Given the description of an element on the screen output the (x, y) to click on. 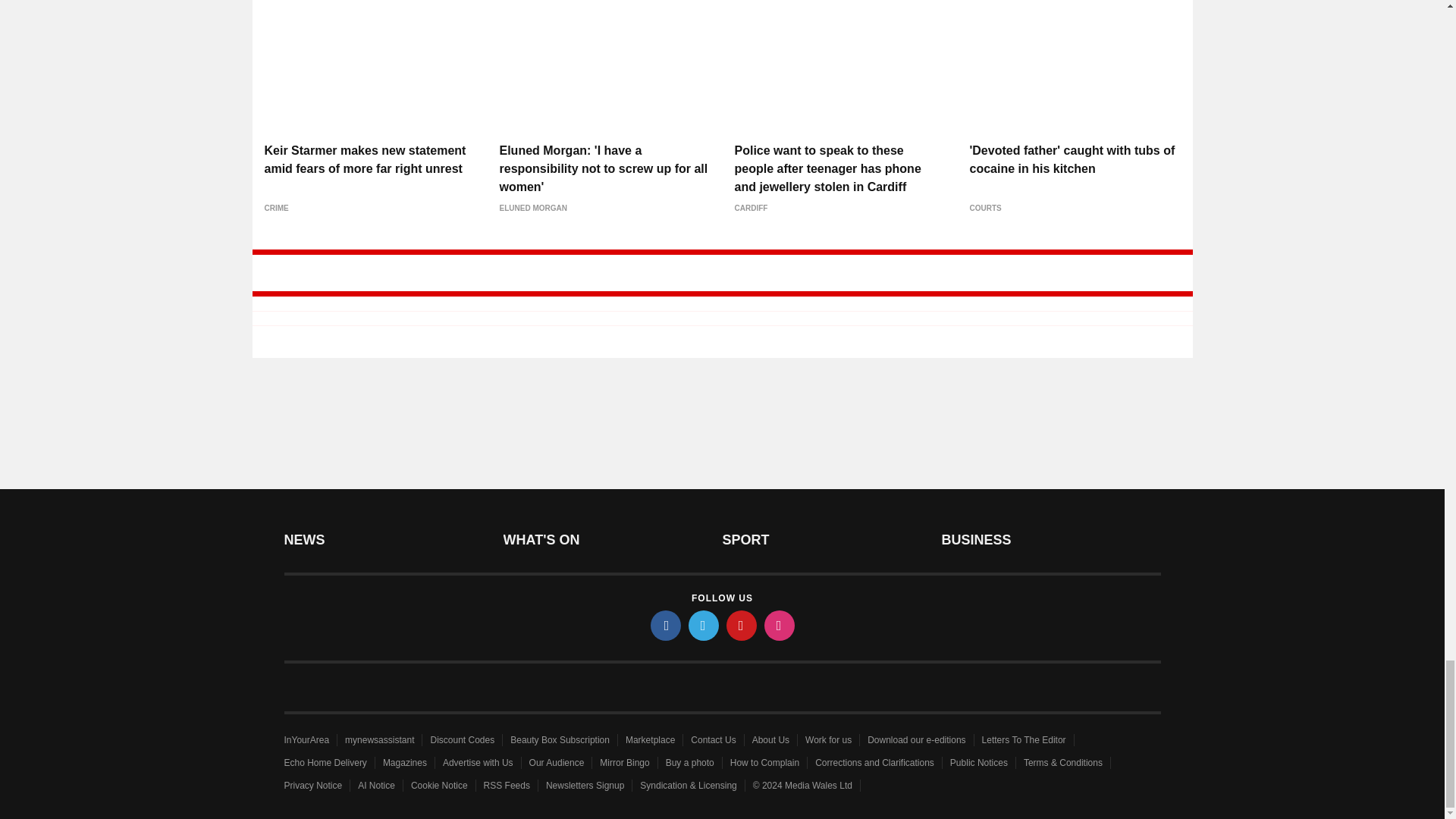
twitter (703, 625)
instagram (779, 625)
facebook (665, 625)
pinterest (741, 625)
